Given the description of an element on the screen output the (x, y) to click on. 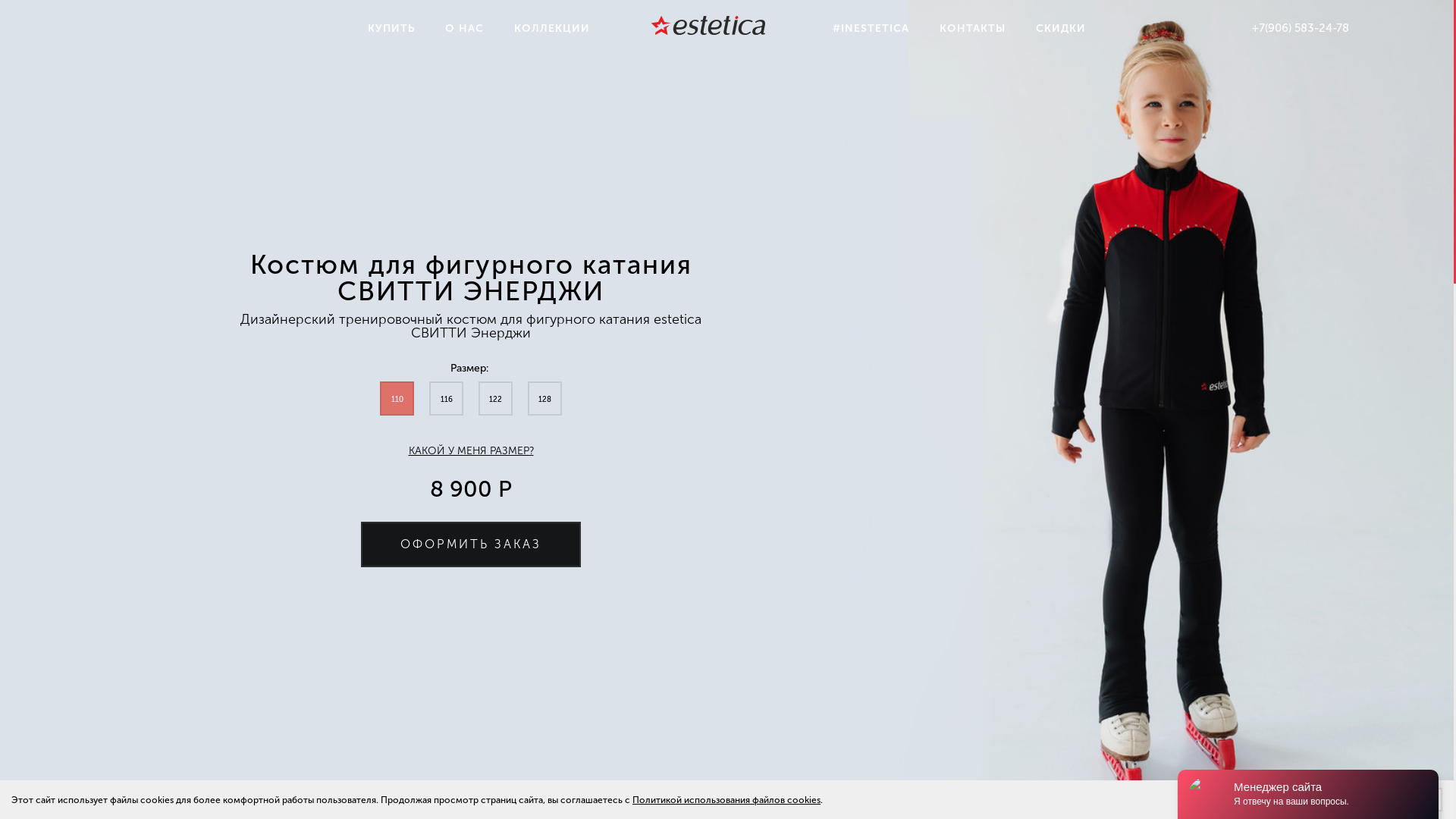
+7(906) 583-24-78 Element type: text (1300, 27)
#INESTETICA Element type: text (870, 28)
